Given the description of an element on the screen output the (x, y) to click on. 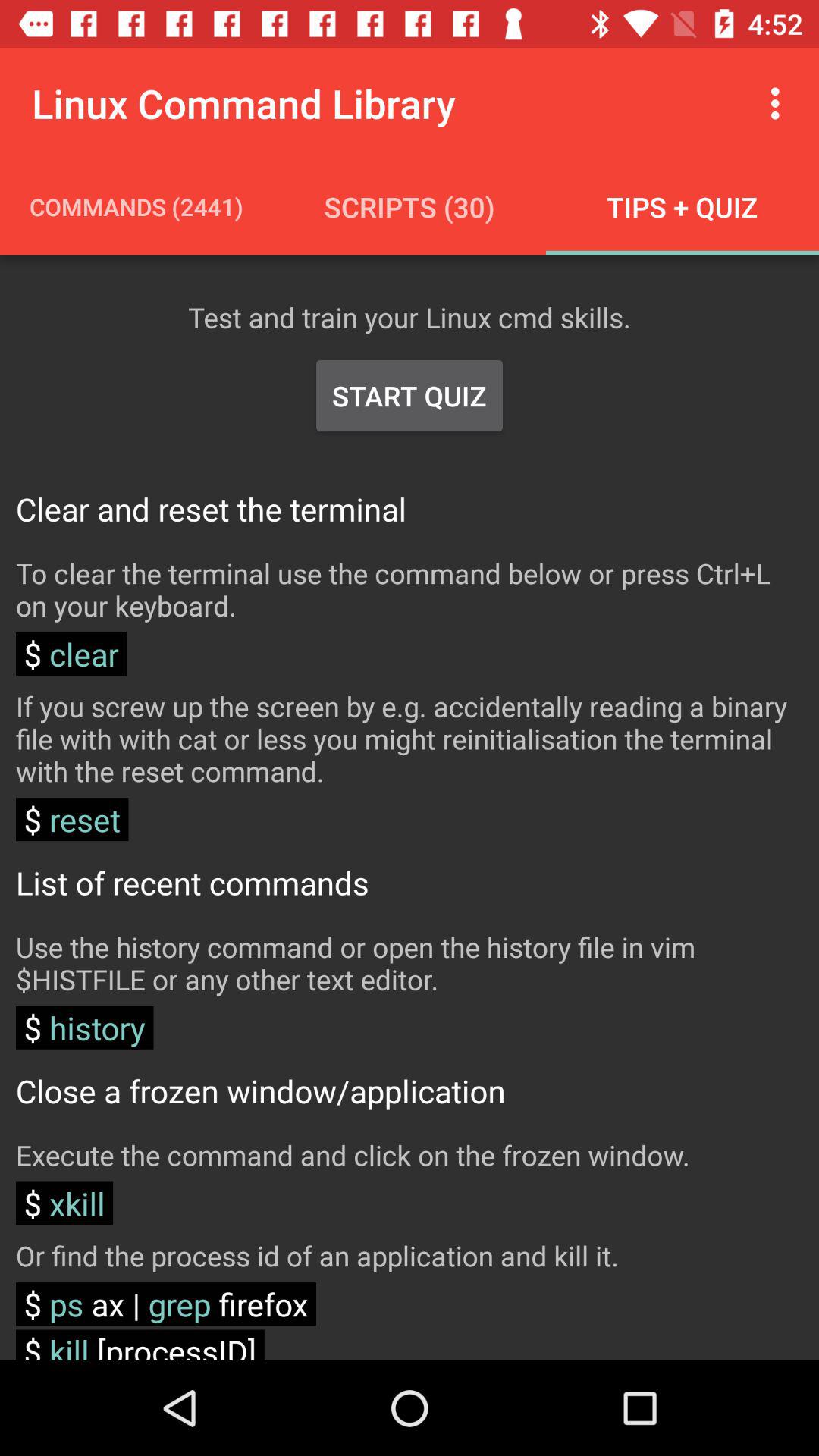
click icon above the  $ kill [processid]  item (165, 1303)
